Given the description of an element on the screen output the (x, y) to click on. 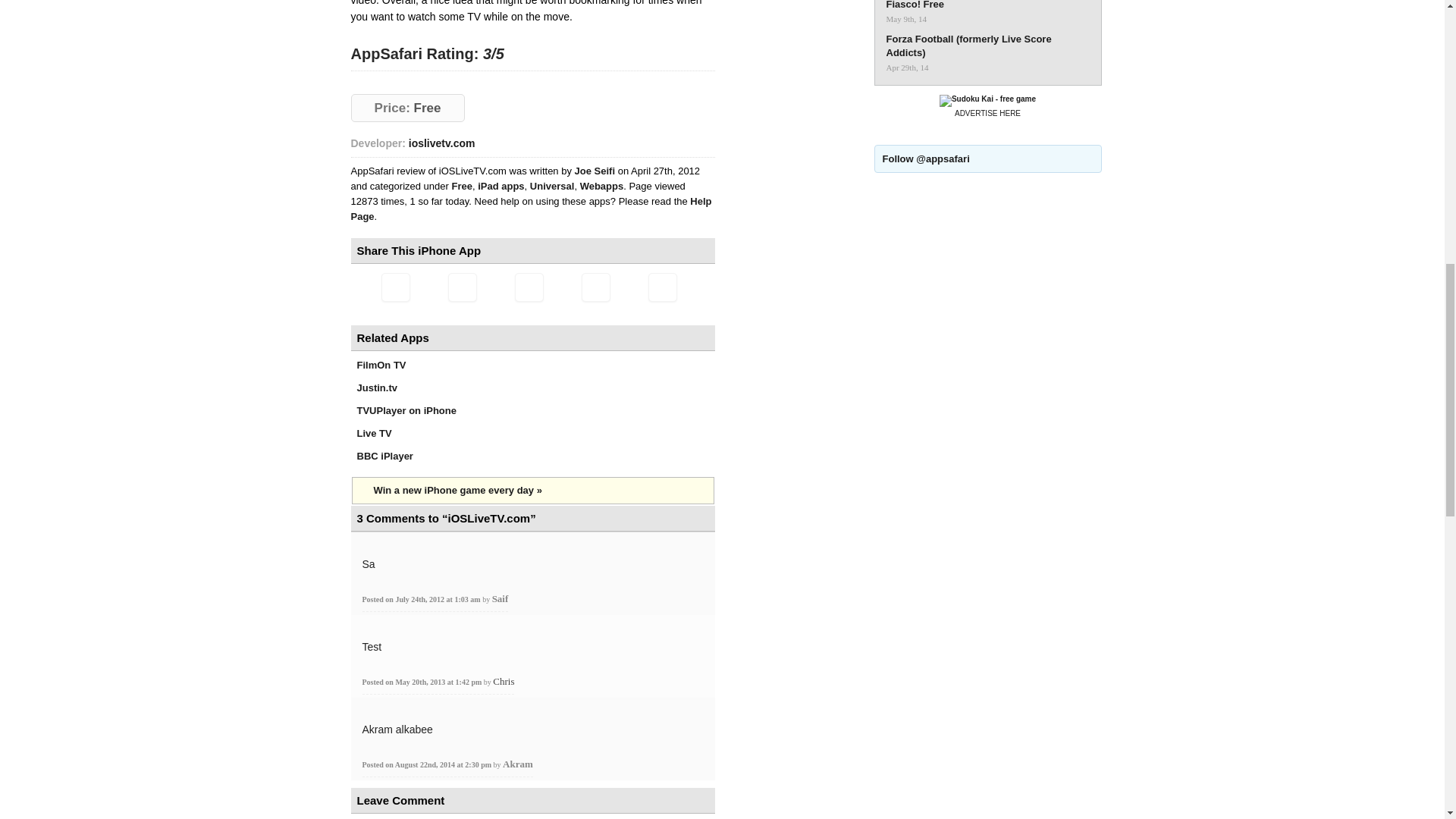
Free (461, 185)
Posted on May 20th, 2013 at 1:42 pm (422, 682)
Justin.tv (376, 387)
Email this app to a friend! (394, 287)
Joe Seifi (596, 170)
Tweet this iPhone app review (461, 287)
Help Page (530, 208)
Posted on August 22nd, 2014 at 2:30 pm (427, 764)
Universal (552, 185)
del.icio.us (595, 287)
